Given the description of an element on the screen output the (x, y) to click on. 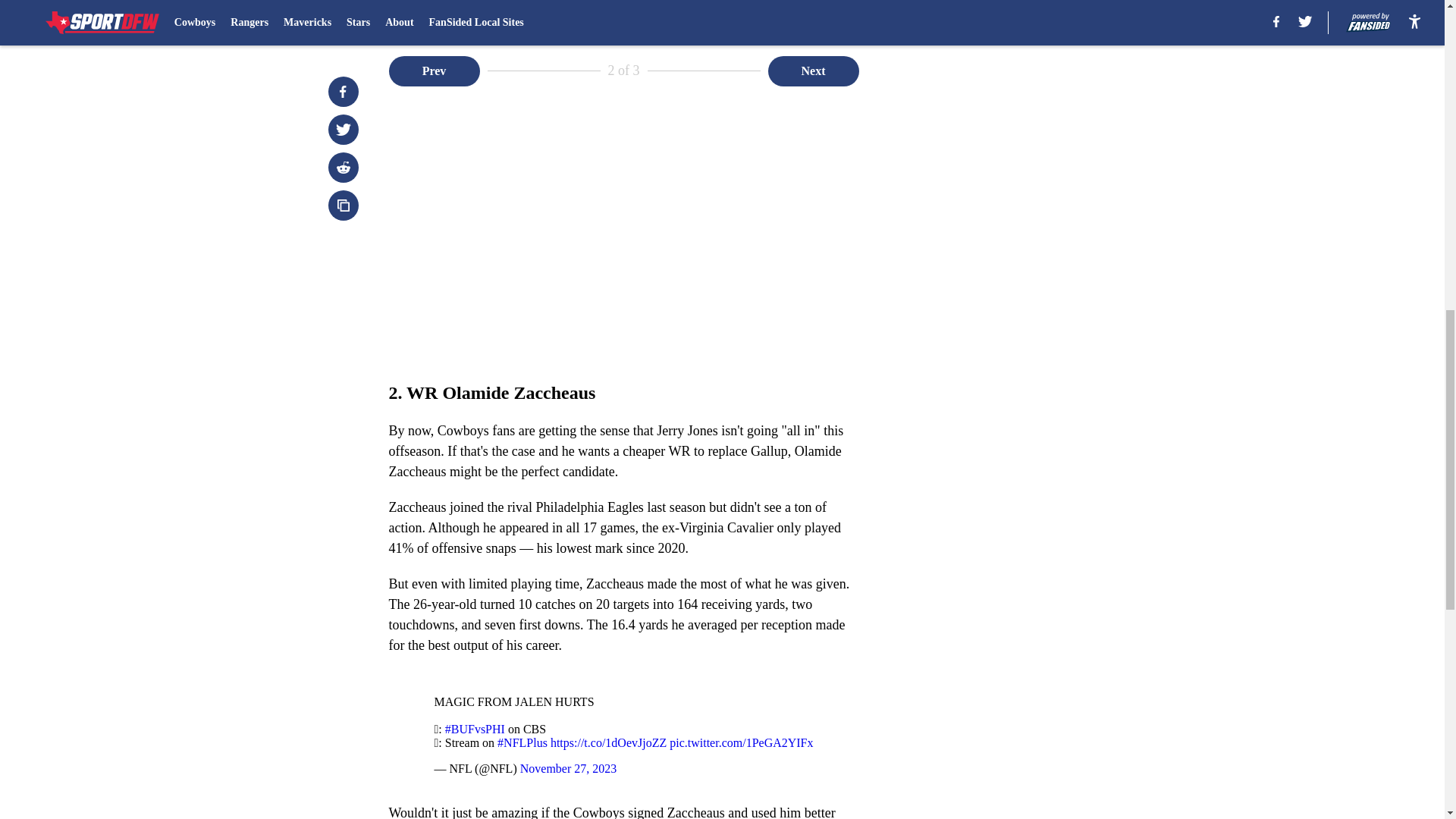
Next (813, 71)
November 27, 2023 (568, 768)
Prev (433, 71)
